Given the description of an element on the screen output the (x, y) to click on. 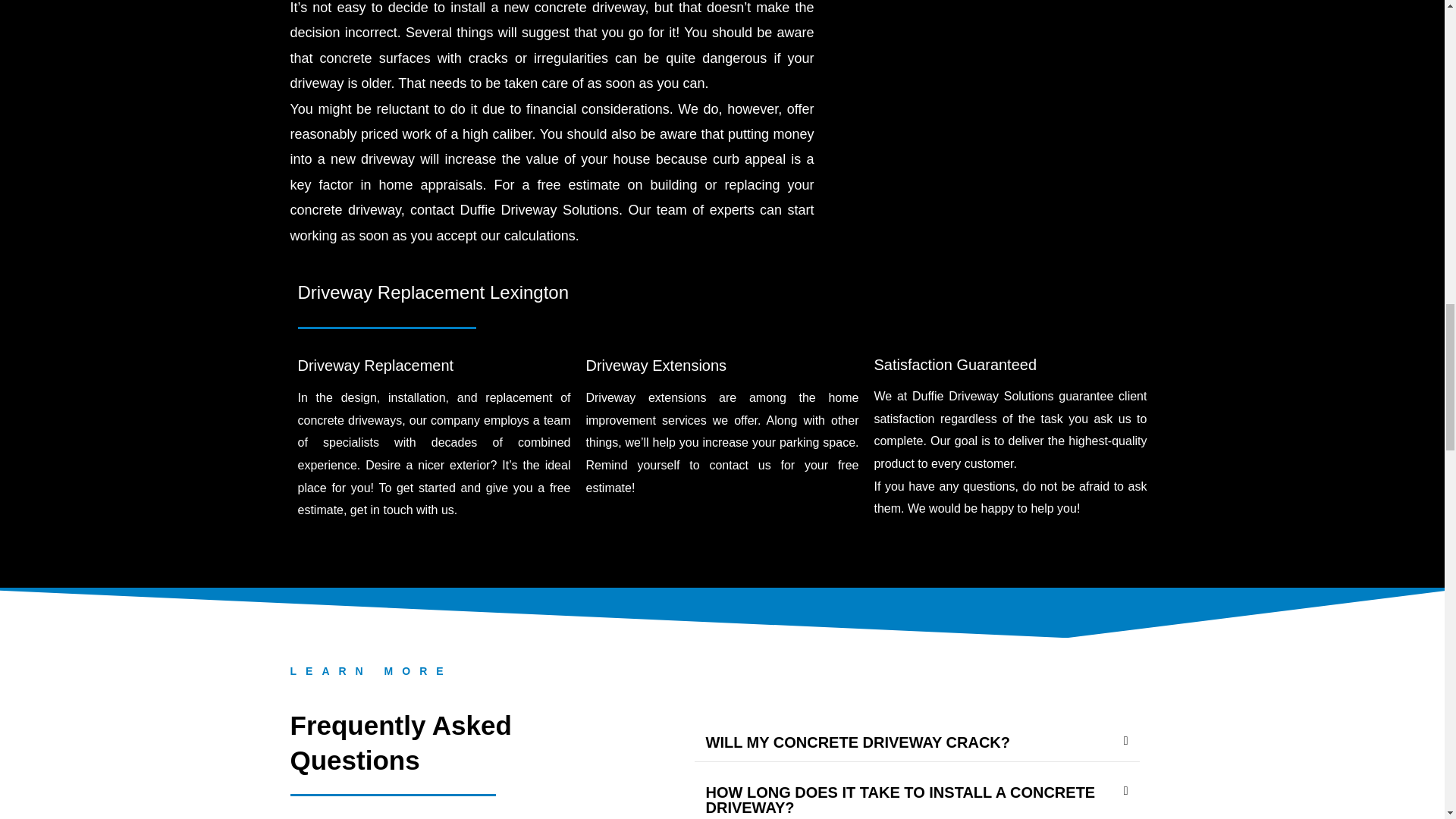
WILL MY CONCRETE DRIVEWAY CRACK? (857, 742)
HOW LONG DOES IT TAKE TO INSTALL A CONCRETE DRIVEWAY? (899, 799)
